Given the description of an element on the screen output the (x, y) to click on. 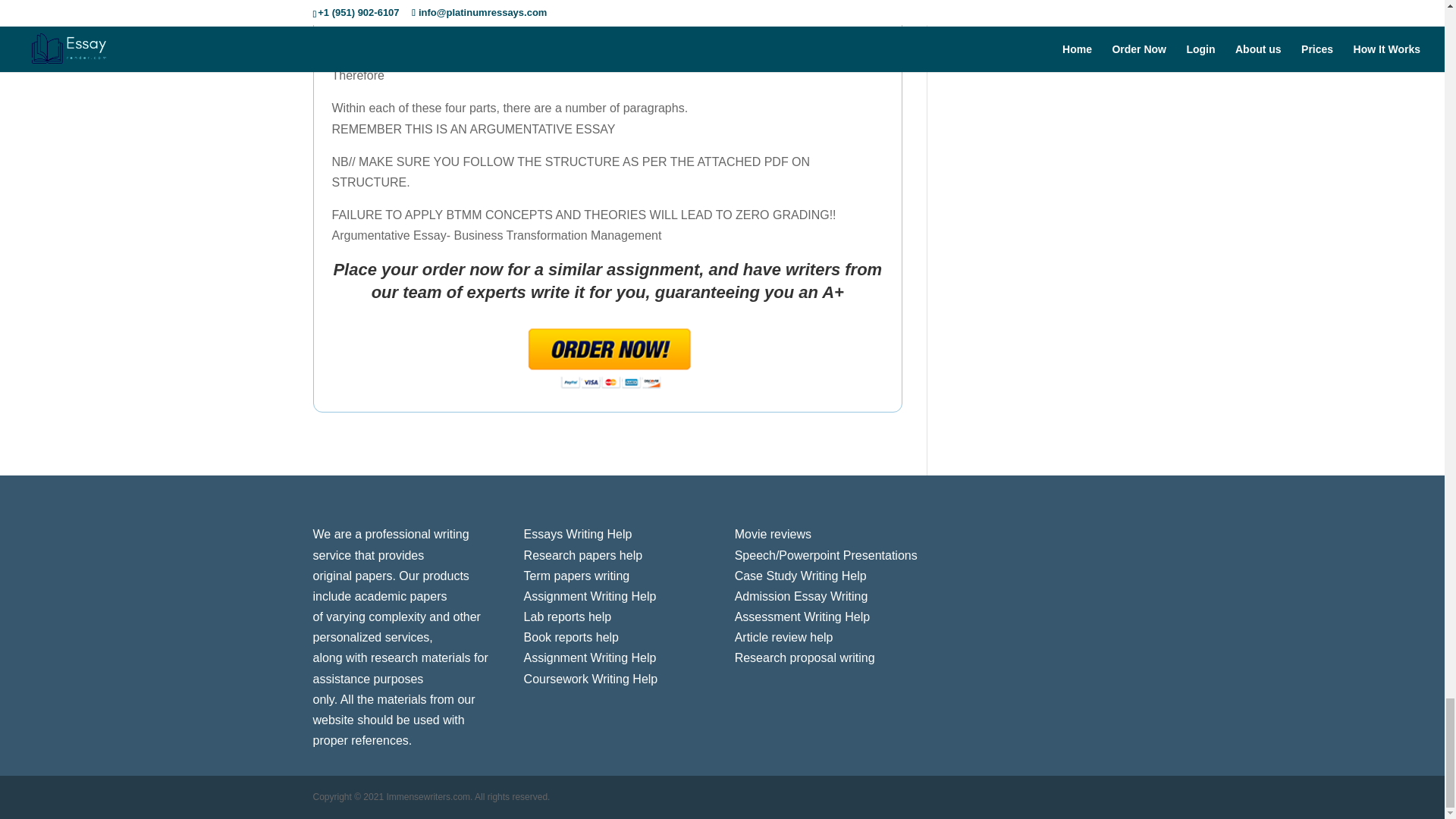
We are a professional writing service that provides (390, 544)
along with research materials for assistance purposes (400, 667)
Essays Writing Help (577, 533)
Assessment Writing Help (802, 616)
Research papers help (583, 554)
Admission Essay Writing (801, 595)
Article review help (783, 636)
Assignment Writing Help (590, 595)
Lab reports help (567, 616)
Movie reviews (772, 533)
